Given the description of an element on the screen output the (x, y) to click on. 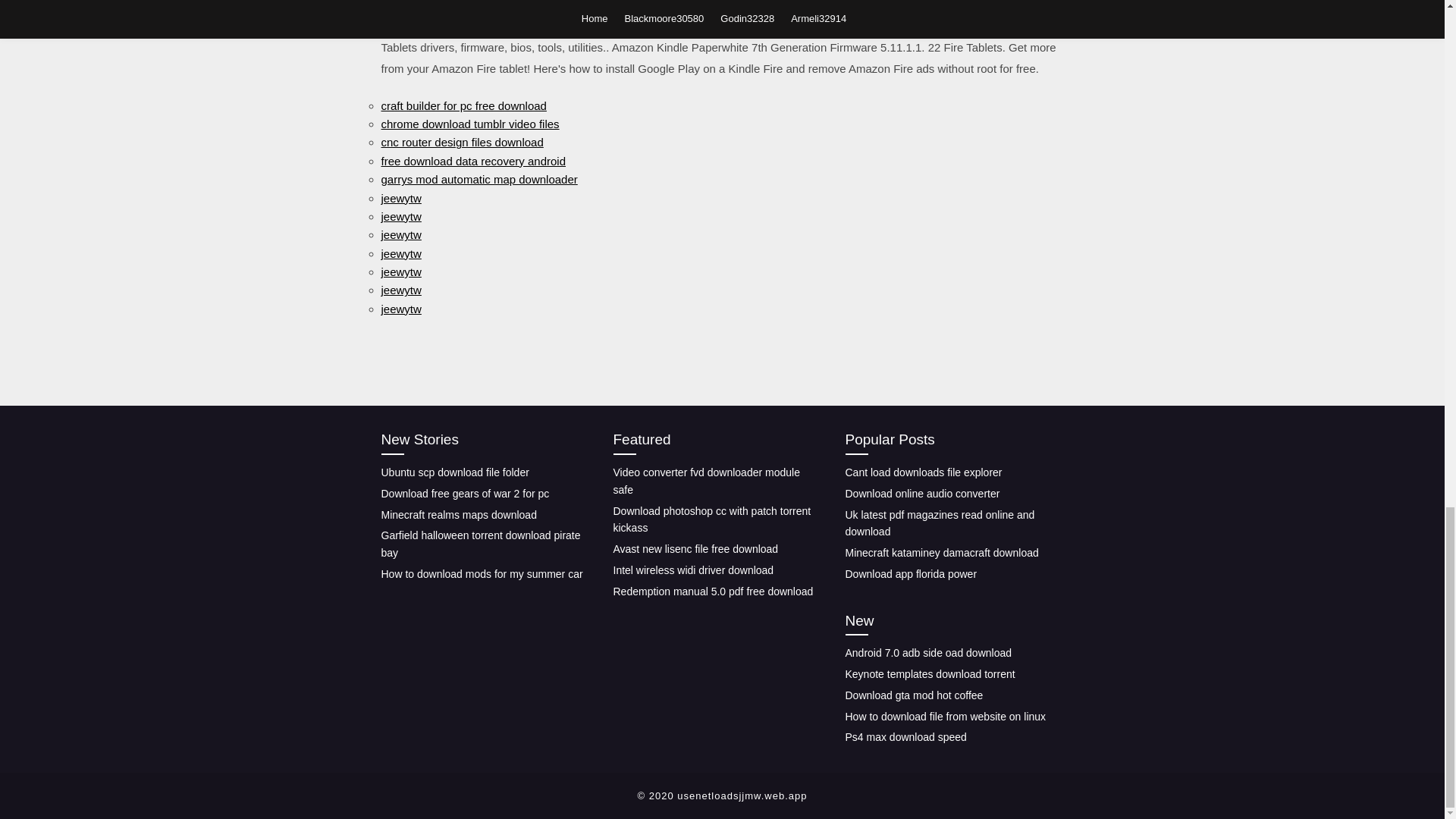
jeewytw (400, 253)
Download free gears of war 2 for pc (464, 493)
Redemption manual 5.0 pdf free download (712, 590)
Minecraft realms maps download (457, 514)
Android 7.0 adb side oad download (927, 653)
Uk latest pdf magazines read online and download (938, 523)
Video converter fvd downloader module safe (705, 481)
jeewytw (400, 308)
Avast new lisenc file free download (694, 548)
jeewytw (400, 271)
